Given the description of an element on the screen output the (x, y) to click on. 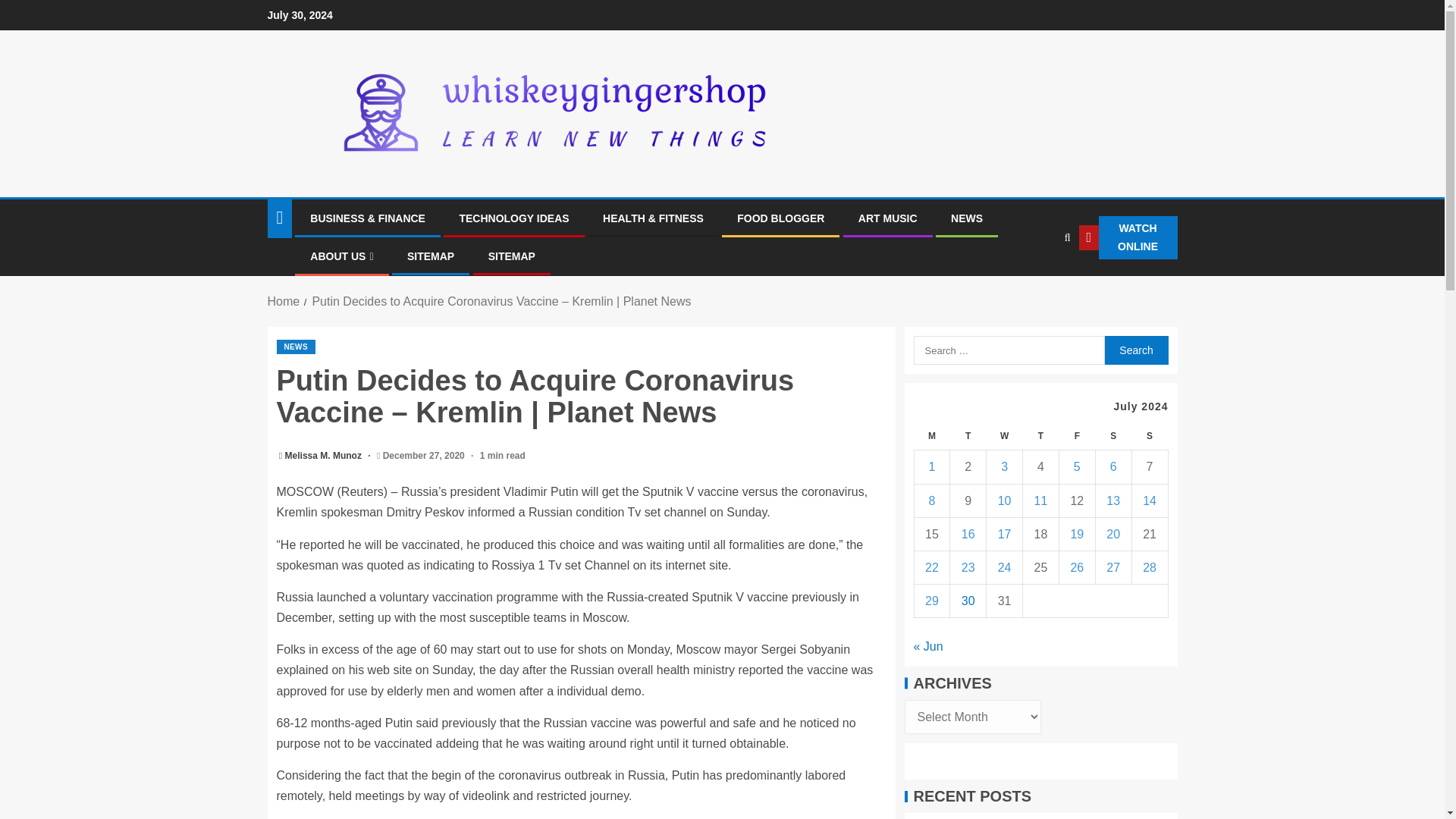
Search (1135, 349)
NEWS (966, 218)
Friday (1076, 436)
NEWS (295, 346)
Thursday (1041, 436)
WATCH ONLINE (1127, 238)
Search (1036, 284)
Melissa M. Munoz (325, 455)
Wednesday (1005, 436)
ABOUT US (341, 256)
Tuesday (968, 436)
Search (1135, 349)
FOOD BLOGGER (780, 218)
TECHNOLOGY IDEAS (513, 218)
Saturday (1112, 436)
